Given the description of an element on the screen output the (x, y) to click on. 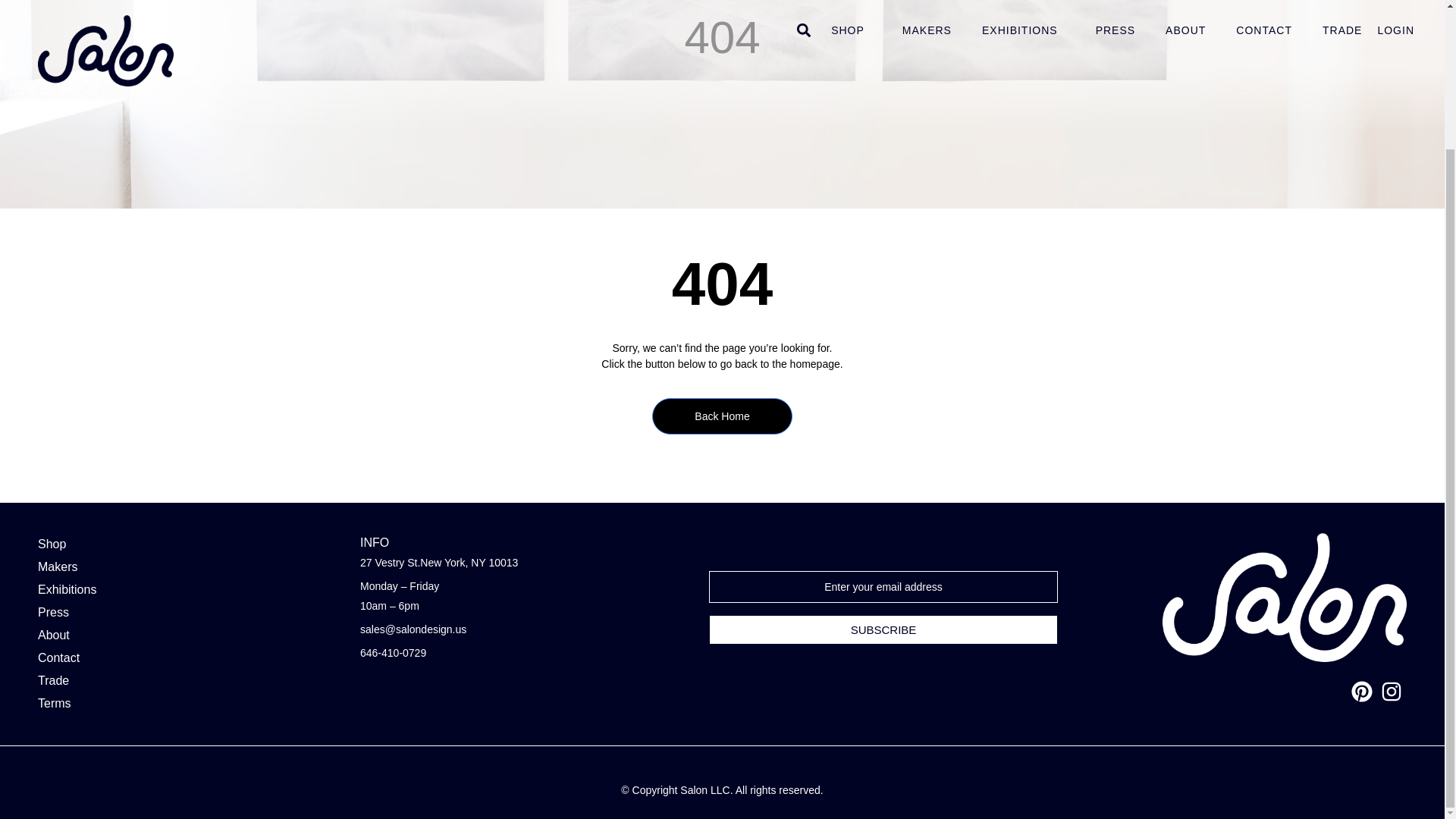
Subscribe (883, 629)
